Given the description of an element on the screen output the (x, y) to click on. 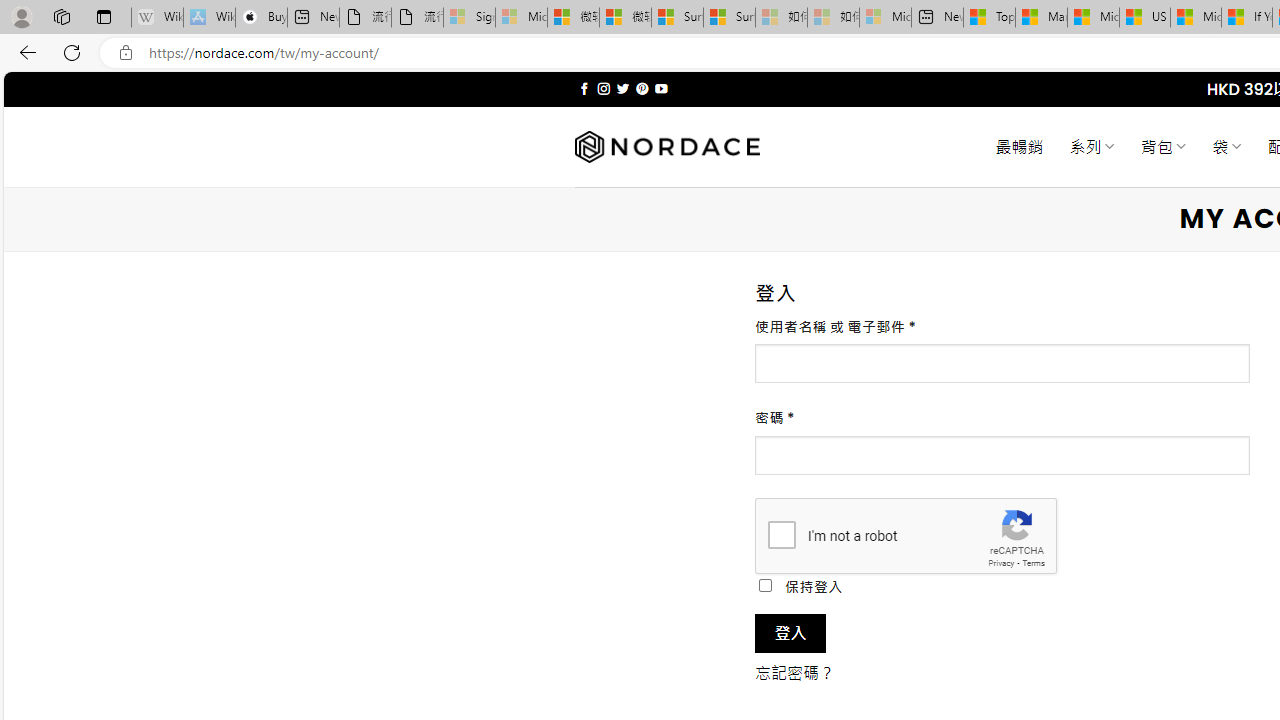
Top Stories - MSN (989, 17)
Follow on YouTube (661, 88)
I'm not a robot (782, 533)
Terms (1033, 562)
Wikipedia - Sleeping (157, 17)
